Given the description of an element on the screen output the (x, y) to click on. 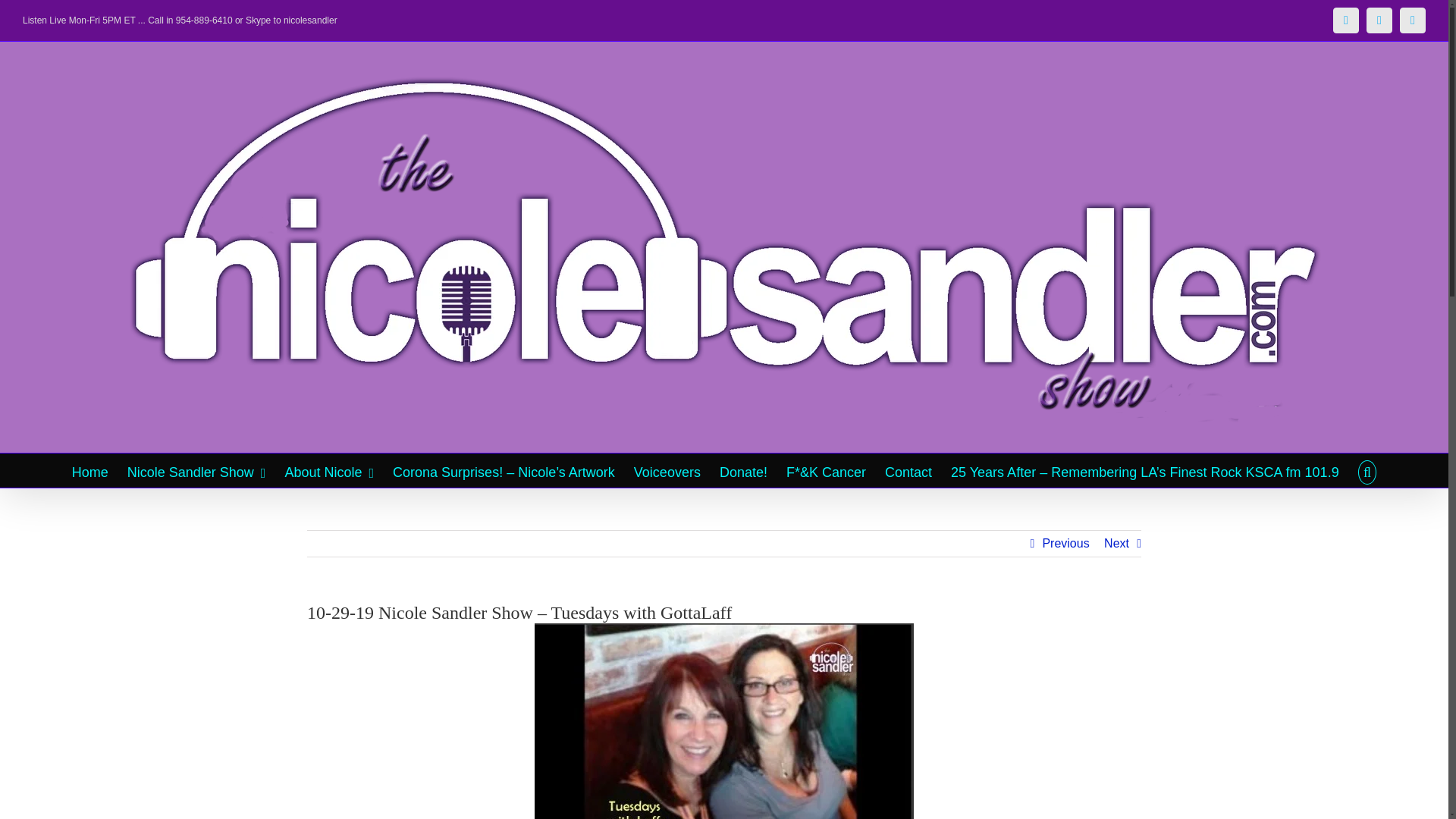
YouTube (1412, 20)
Voiceovers (666, 470)
X (1379, 20)
About Nicole (328, 470)
Contact (908, 470)
Donate! (743, 470)
Facebook (1345, 20)
Nicole Sandler Show (197, 470)
Facebook (1345, 20)
X (1379, 20)
